Given the description of an element on the screen output the (x, y) to click on. 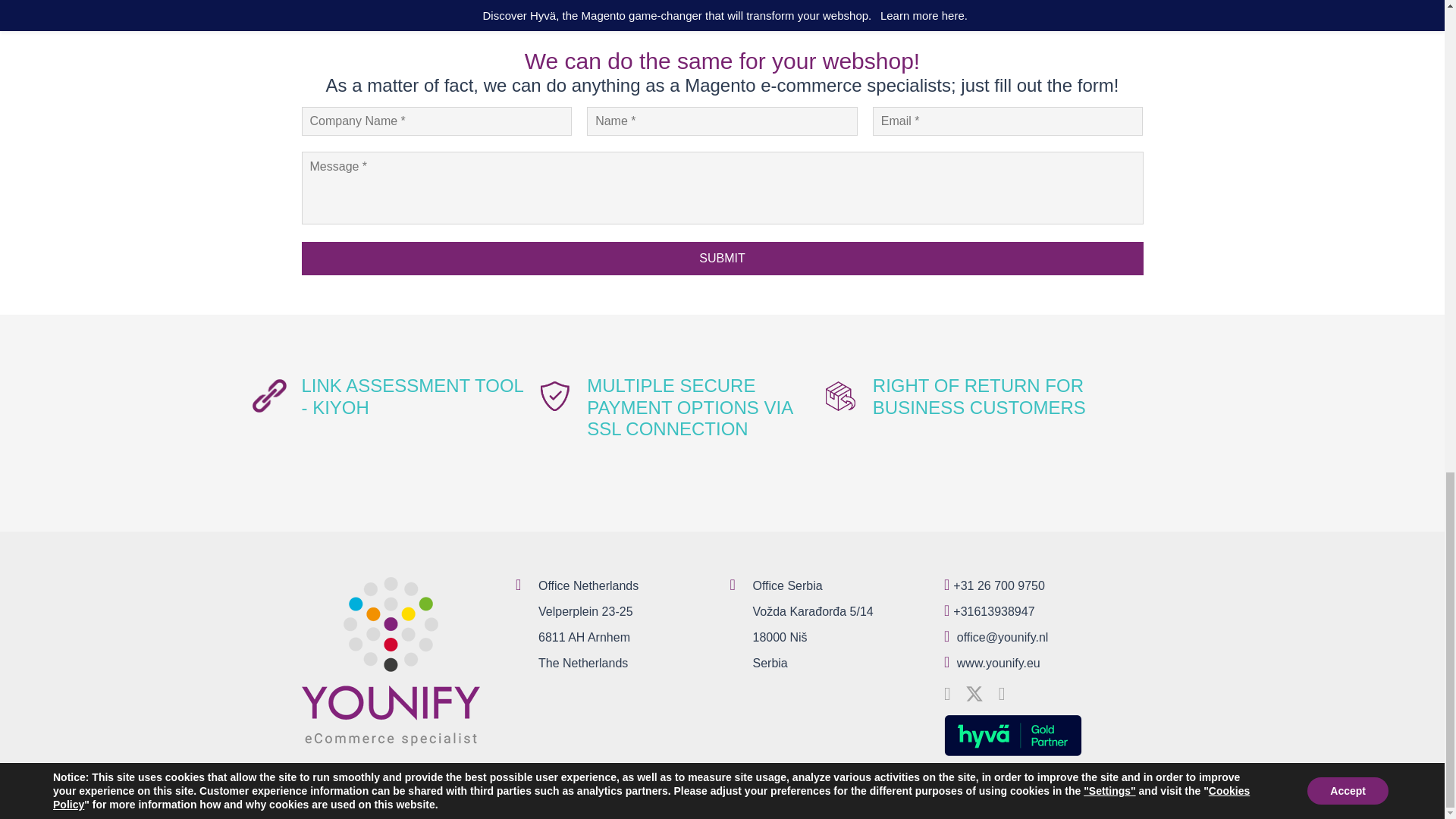
Privacy (1041, 797)
Cookie policy (1106, 797)
SUBMIT (721, 258)
SUBMIT (721, 258)
www.younify.eu (998, 662)
